Given the description of an element on the screen output the (x, y) to click on. 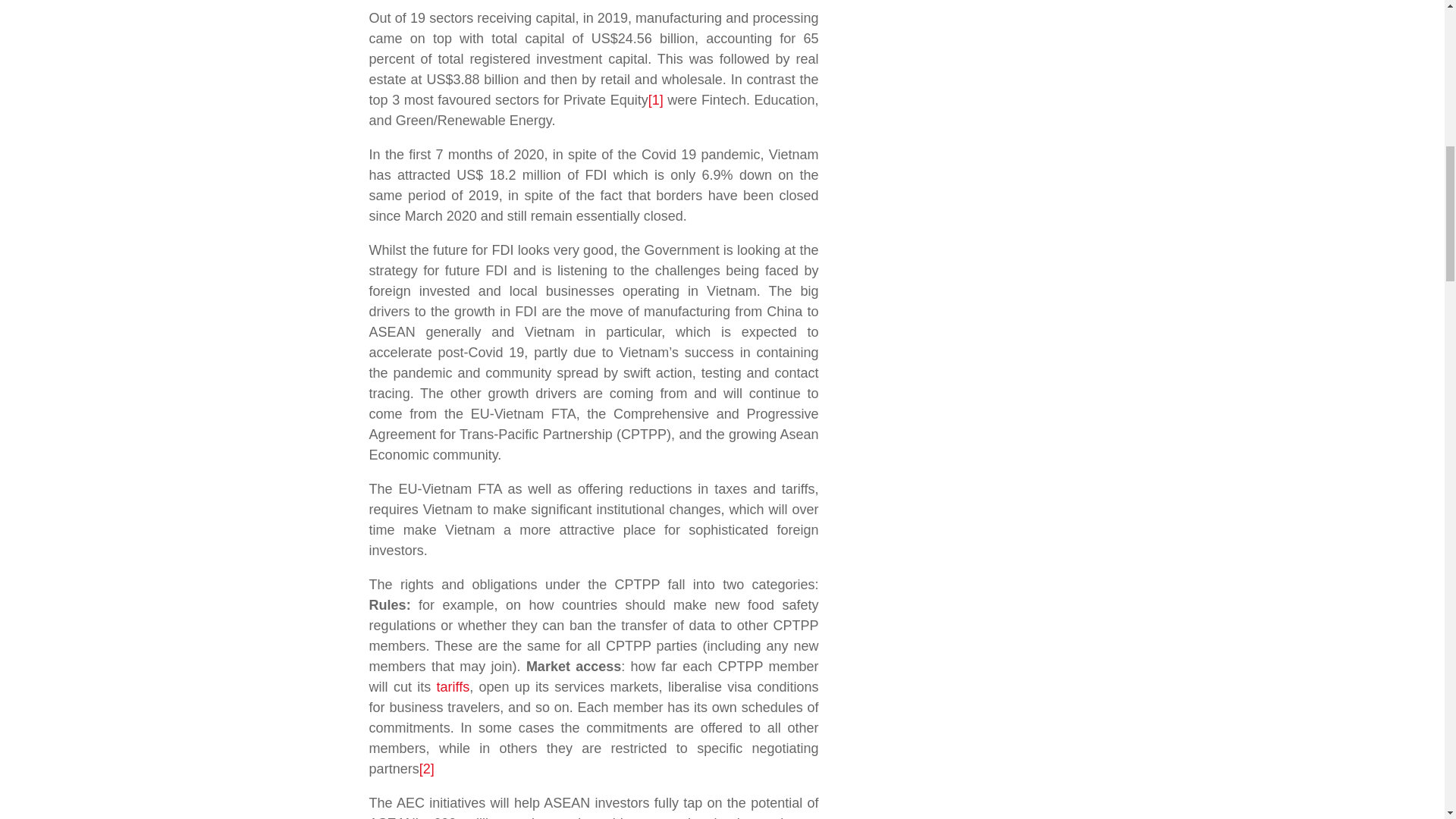
tariffs (451, 686)
